Given the description of an element on the screen output the (x, y) to click on. 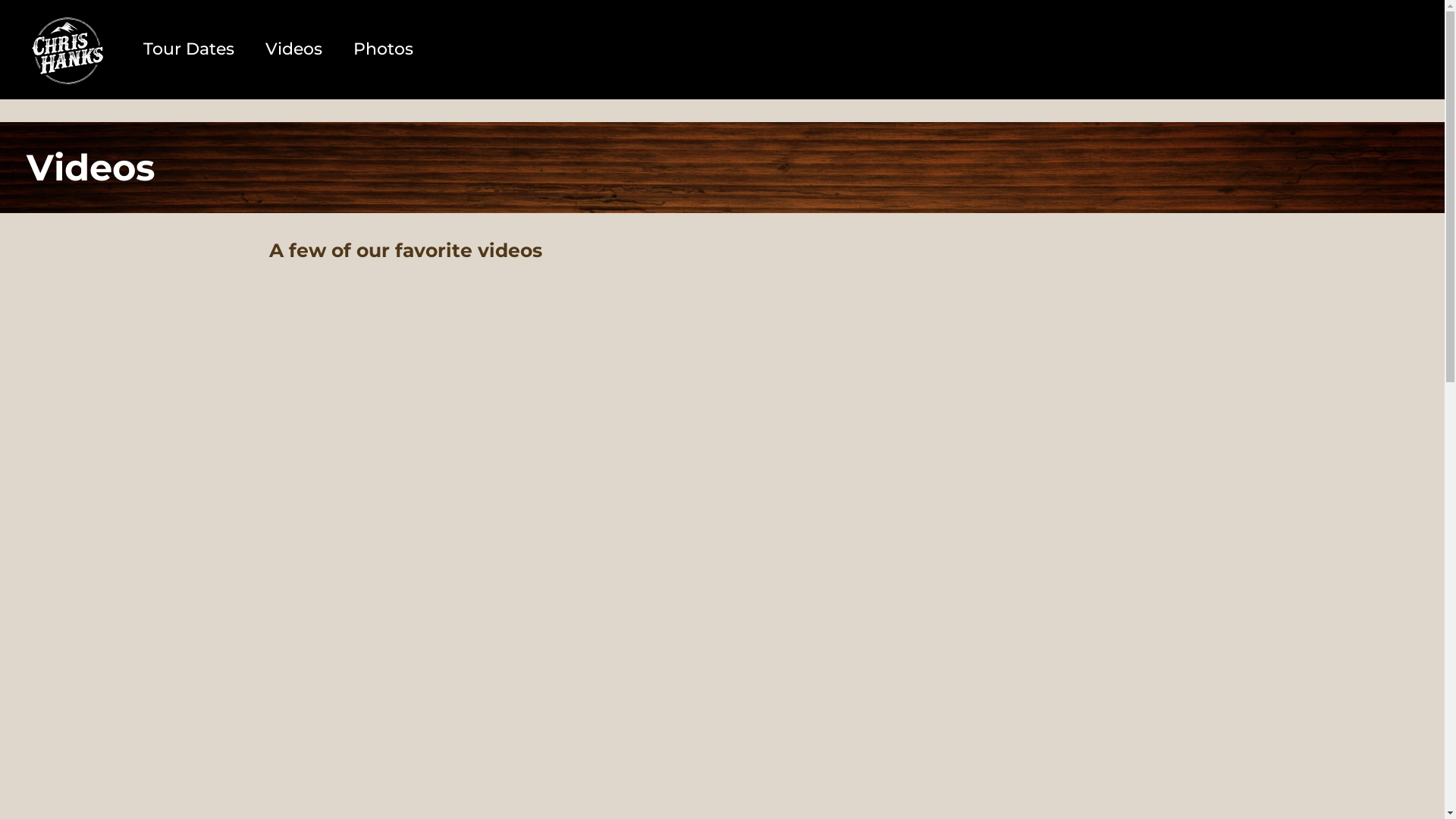
Photos Element type: text (383, 49)
Videos Element type: text (294, 49)
Chris Hanks Element type: hover (67, 49)
Tour Dates Element type: text (189, 49)
